Given the description of an element on the screen output the (x, y) to click on. 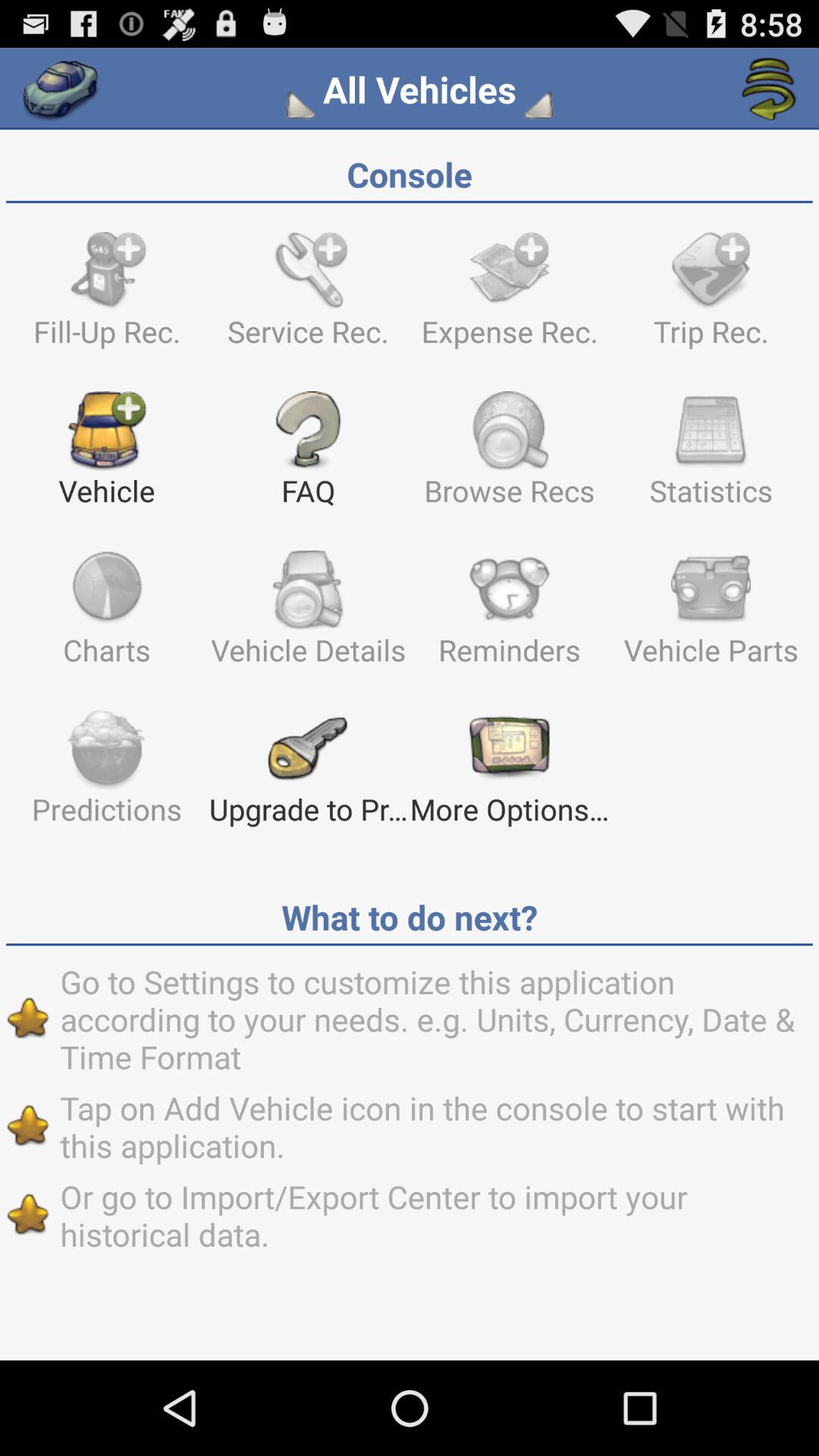
click the app above upgrade to pro! item (509, 614)
